Given the description of an element on the screen output the (x, y) to click on. 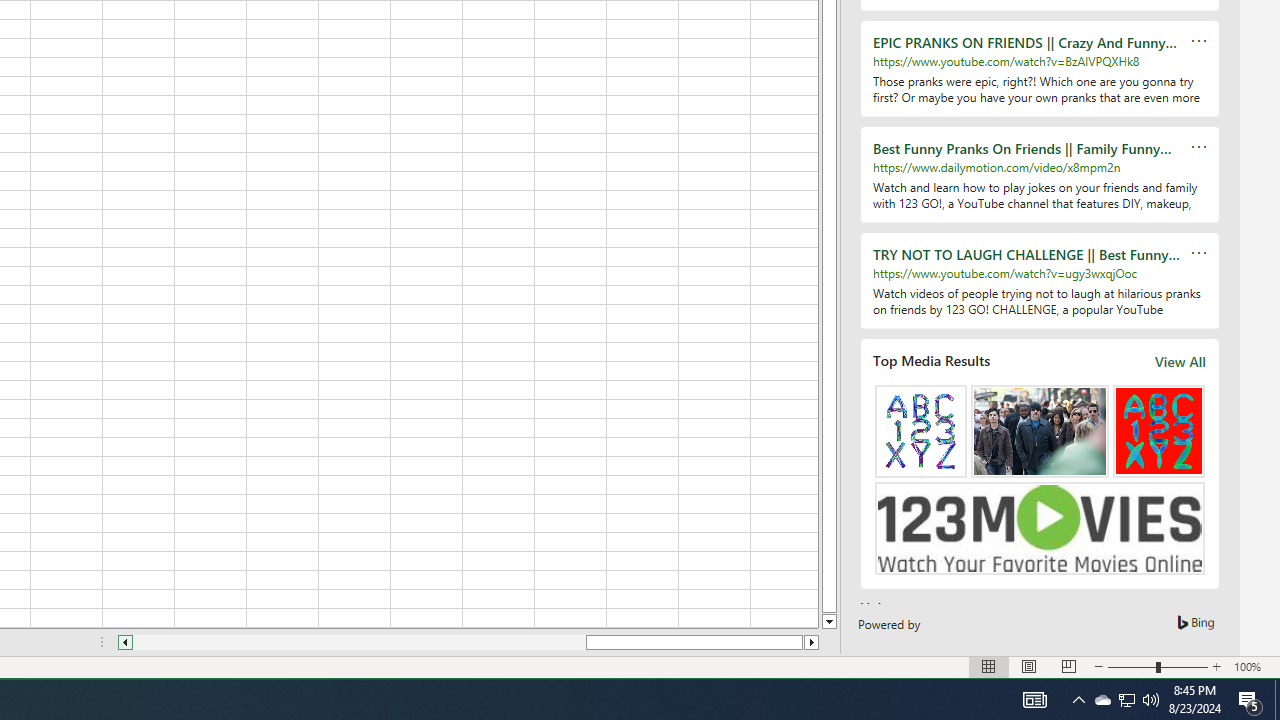
Line down (829, 622)
Page Layout (1028, 667)
Zoom In (1217, 667)
Zoom Out (1131, 667)
Notification Chevron (1078, 699)
Page left (1102, 699)
AutomationID: 4105 (359, 642)
Action Center, 5 new notifications (1034, 699)
Page Break Preview (1250, 699)
Show desktop (1069, 667)
User Promoted Notification Area (1126, 699)
Column left (1277, 699)
